Given the description of an element on the screen output the (x, y) to click on. 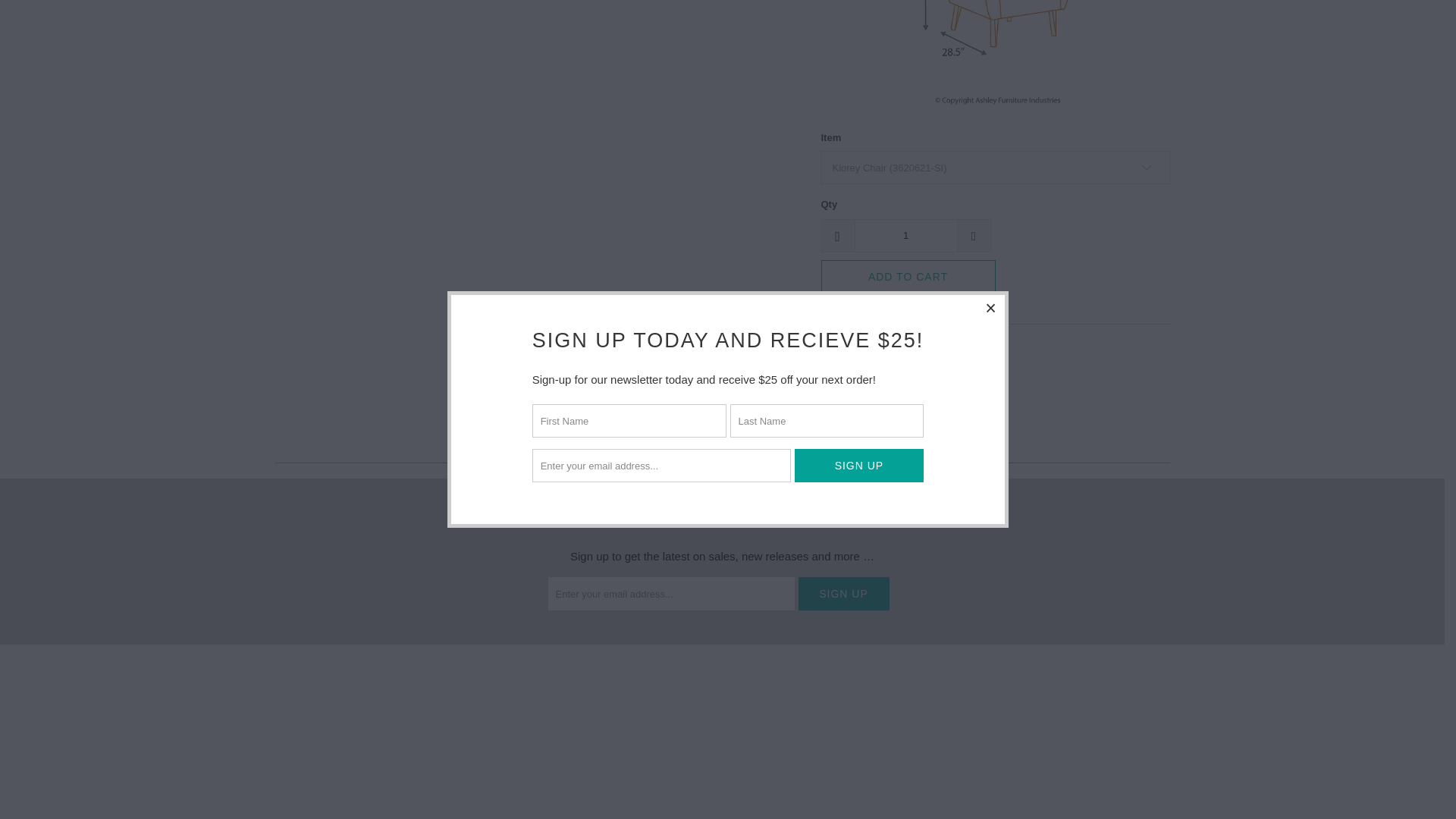
Diners Club (916, 781)
Mastercard (1034, 781)
Shop Pay (1112, 781)
Discover (955, 781)
Google Pay (994, 781)
PayPal (1072, 781)
Apple Pay (877, 781)
Visa (1150, 781)
